Given the description of an element on the screen output the (x, y) to click on. 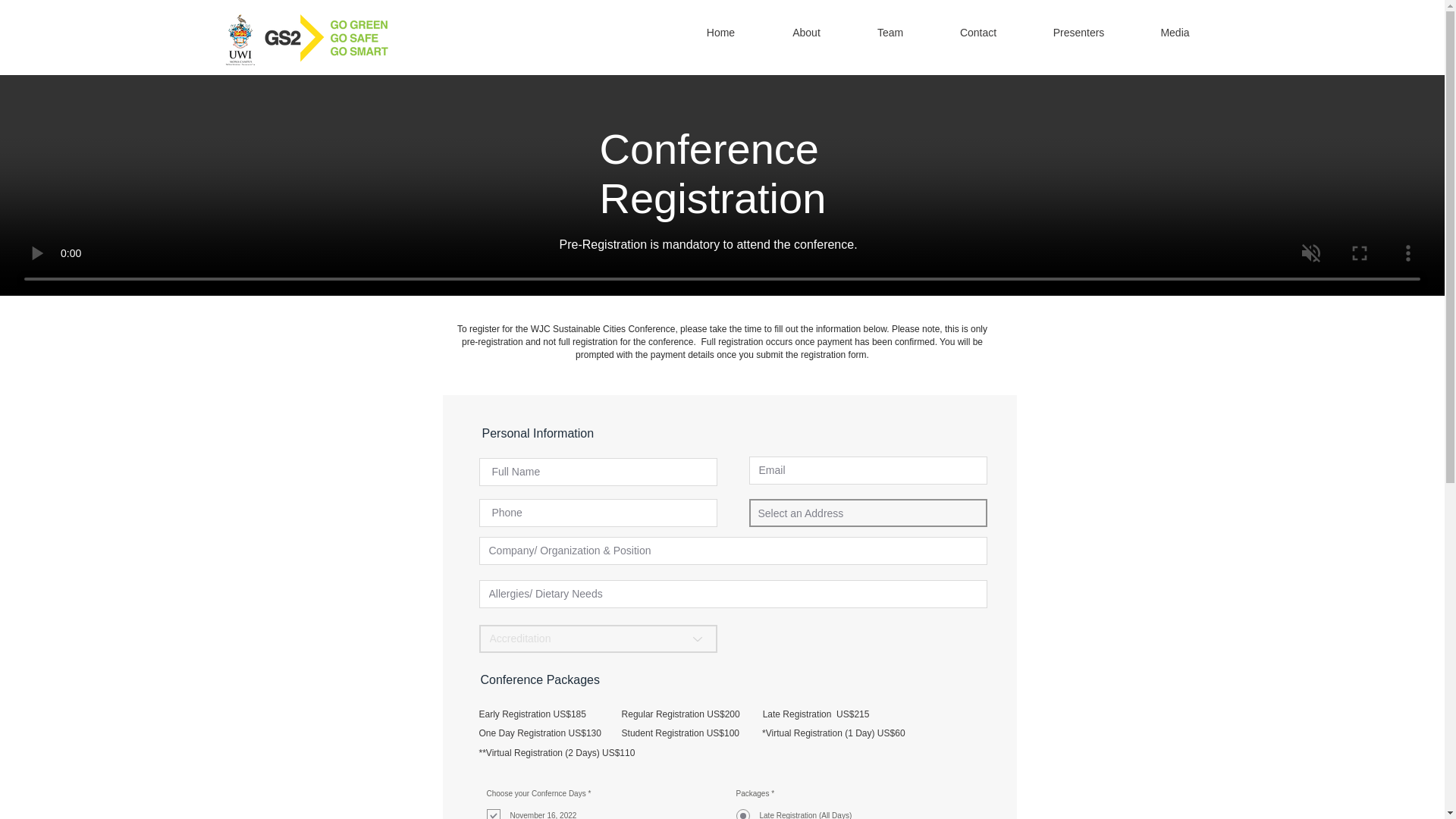
Team (889, 37)
Media (1174, 37)
About (805, 37)
Home (720, 37)
Presenters (1078, 37)
Contact (978, 37)
